Given the description of an element on the screen output the (x, y) to click on. 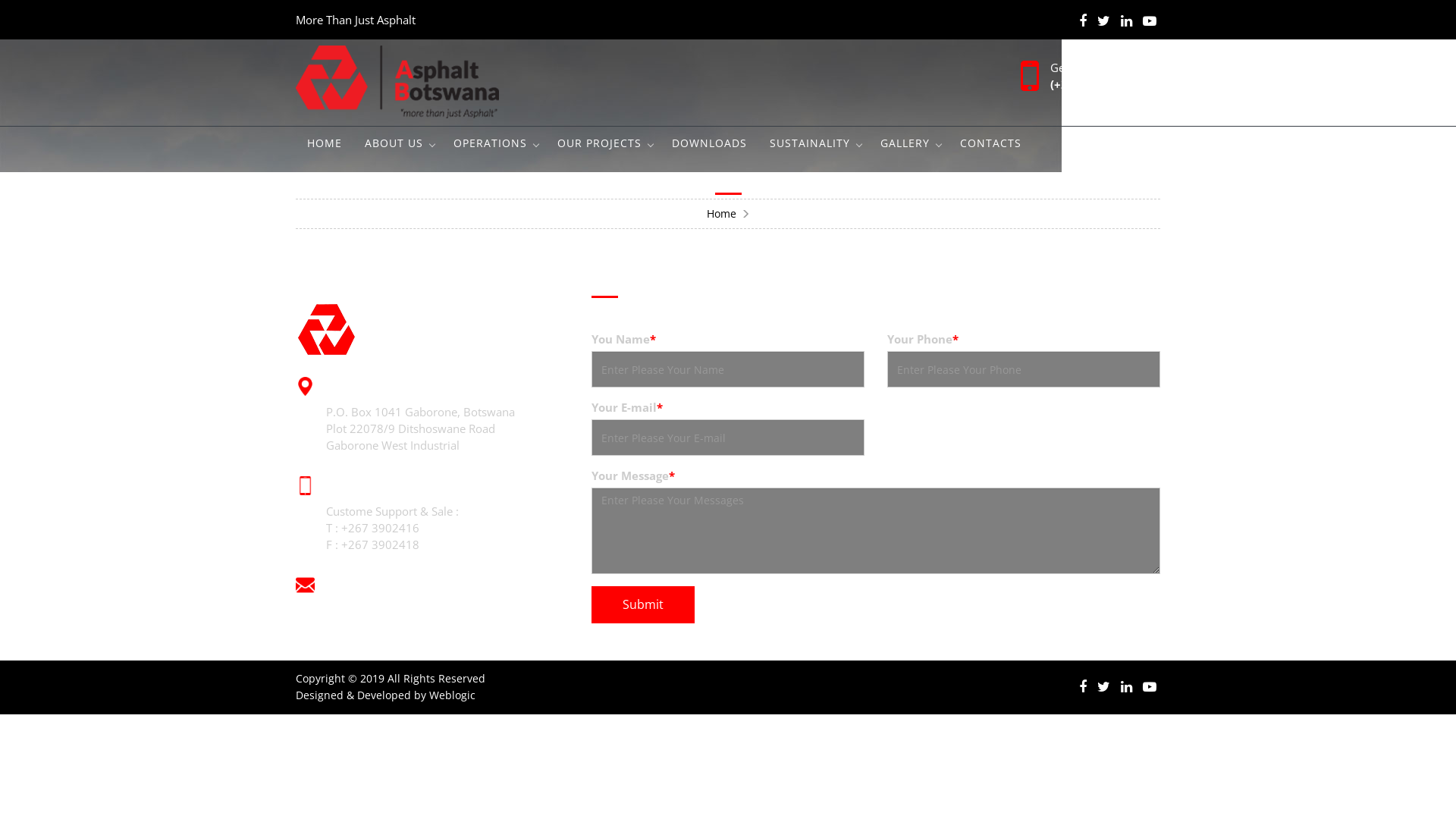
Submit Element type: text (642, 604)
Designed & Developed by Weblogic Element type: text (385, 694)
E-mail : albert@asphalt.co.bw Element type: text (403, 610)
CONTACTS Element type: text (990, 143)
SUSTAINALITY Element type: text (813, 143)
Home Element type: text (721, 213)
ABOUT US Element type: text (397, 143)
GALLERY Element type: text (908, 143)
OPERATIONS Element type: text (494, 143)
DOWNLOADS Element type: text (709, 143)
OUR PROJECTS Element type: text (603, 143)
HOME Element type: text (324, 143)
